Given the description of an element on the screen output the (x, y) to click on. 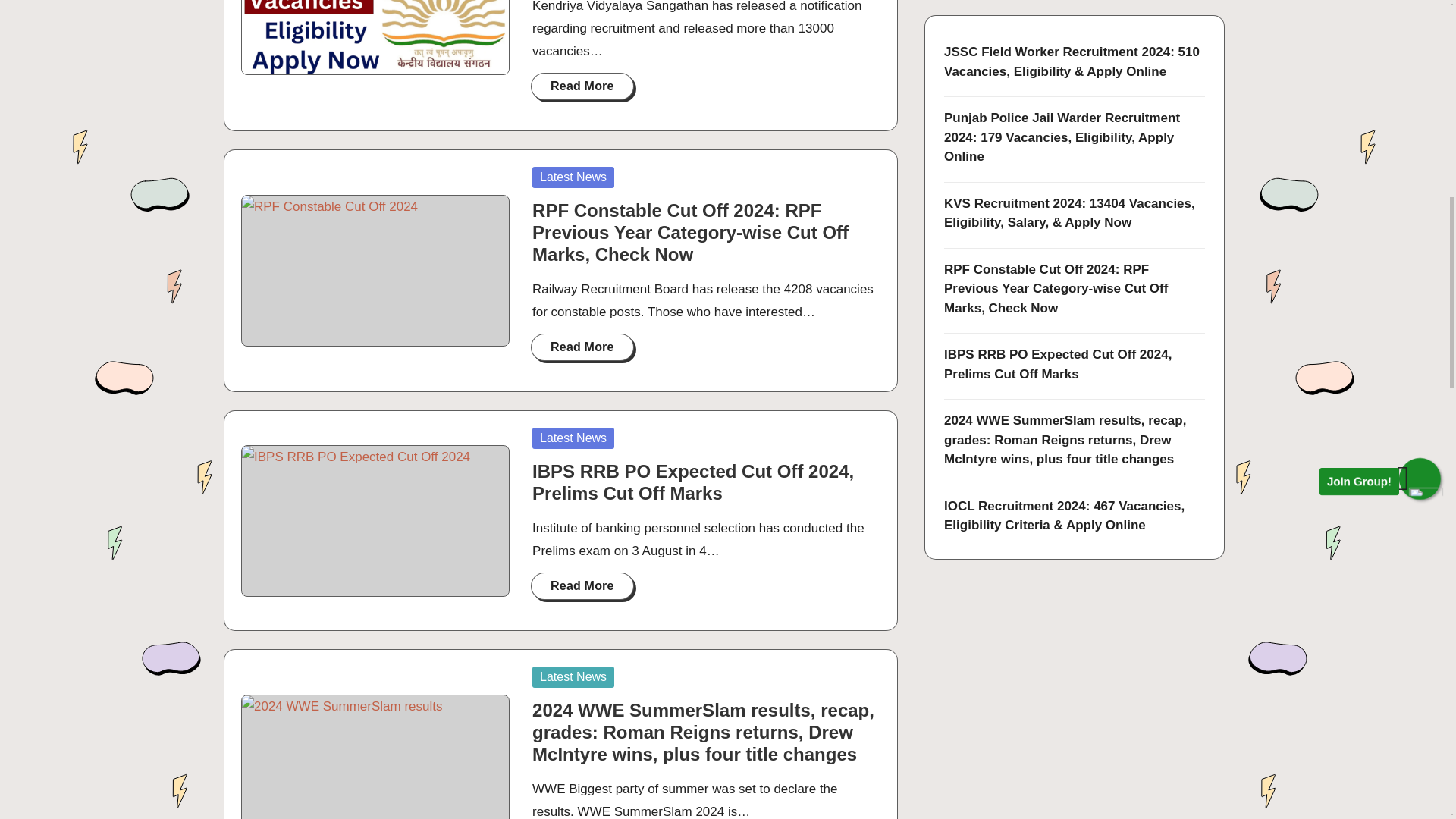
Read More (582, 85)
Latest News (573, 177)
IBPS RRB PO Expected Cut Off 2024, Prelims Cut Off Marks (692, 482)
Latest News (573, 437)
Read More (582, 347)
